Given the description of an element on the screen output the (x, y) to click on. 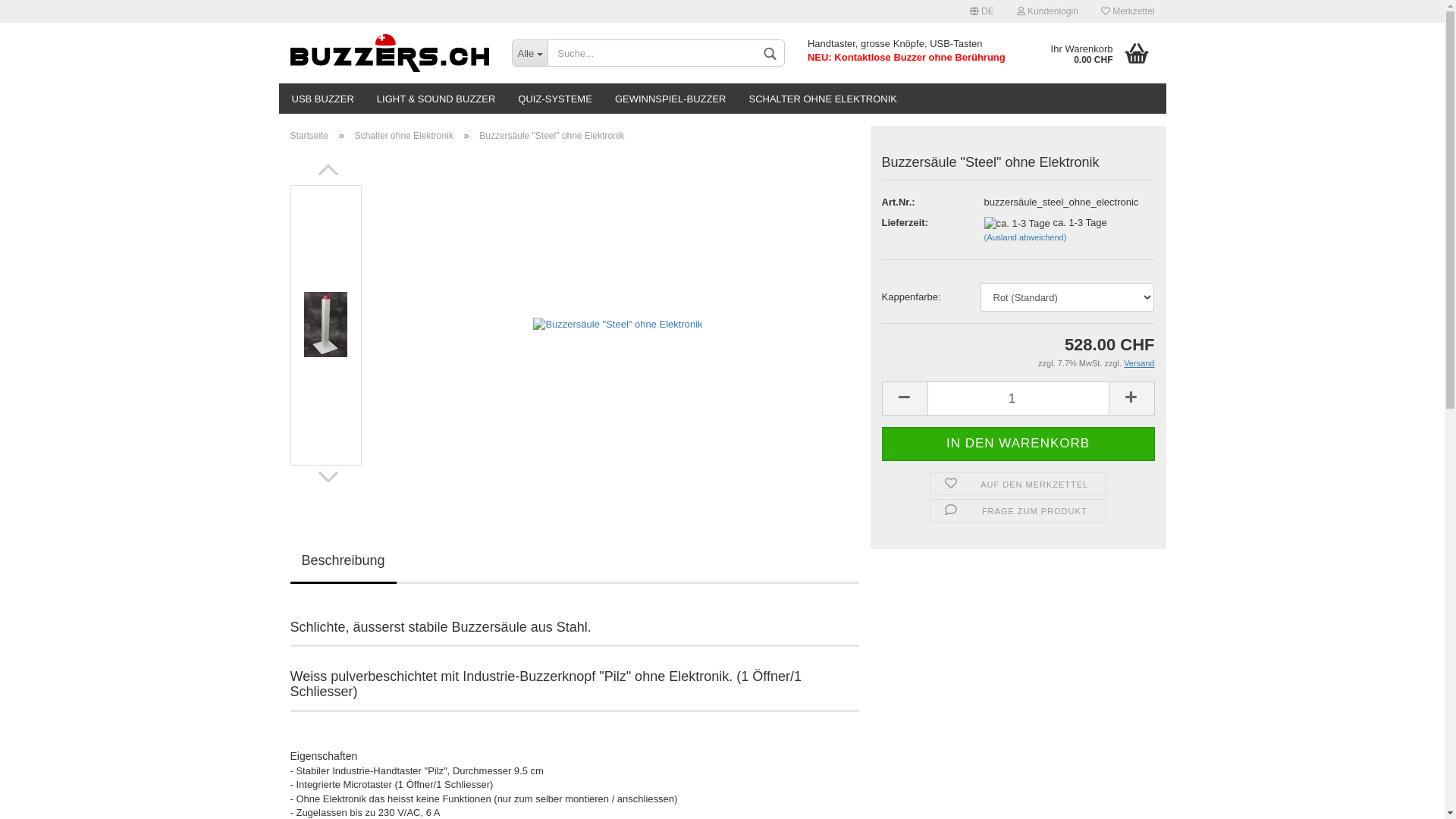
Buzzers.ch Element type: hover (389, 52)
Ihr Warenkorb
0.00 CHF Element type: text (1091, 52)
Versand Element type: text (1138, 362)
Alle Element type: text (529, 52)
QUIZ-SYSTEME Element type: text (554, 98)
Anmelden Element type: text (964, 185)
USB BUZZER Element type: text (322, 98)
Beschreibung Element type: text (342, 562)
In den Warenkorb Element type: text (1017, 443)
(Ausland abweichend) Element type: text (1025, 236)
AUF DEN MERKZETTEL Element type: text (1018, 483)
In den Warenkorb Element type: hover (1017, 443)
 Merkzettel Element type: text (1127, 11)
LIGHT & SOUND BUZZER Element type: text (436, 98)
FRAGE ZUM PRODUKT Element type: text (1018, 510)
Startseite Element type: text (308, 135)
Speichern Element type: text (899, 123)
GEWINNSPIEL-BUZZER Element type: text (670, 98)
Schalter ohne Elektronik Element type: text (403, 135)
SCHALTER OHNE ELEKTRONIK Element type: text (822, 98)
 Kundenlogin Element type: text (1047, 11)
DE Element type: text (981, 11)
